Given the description of an element on the screen output the (x, y) to click on. 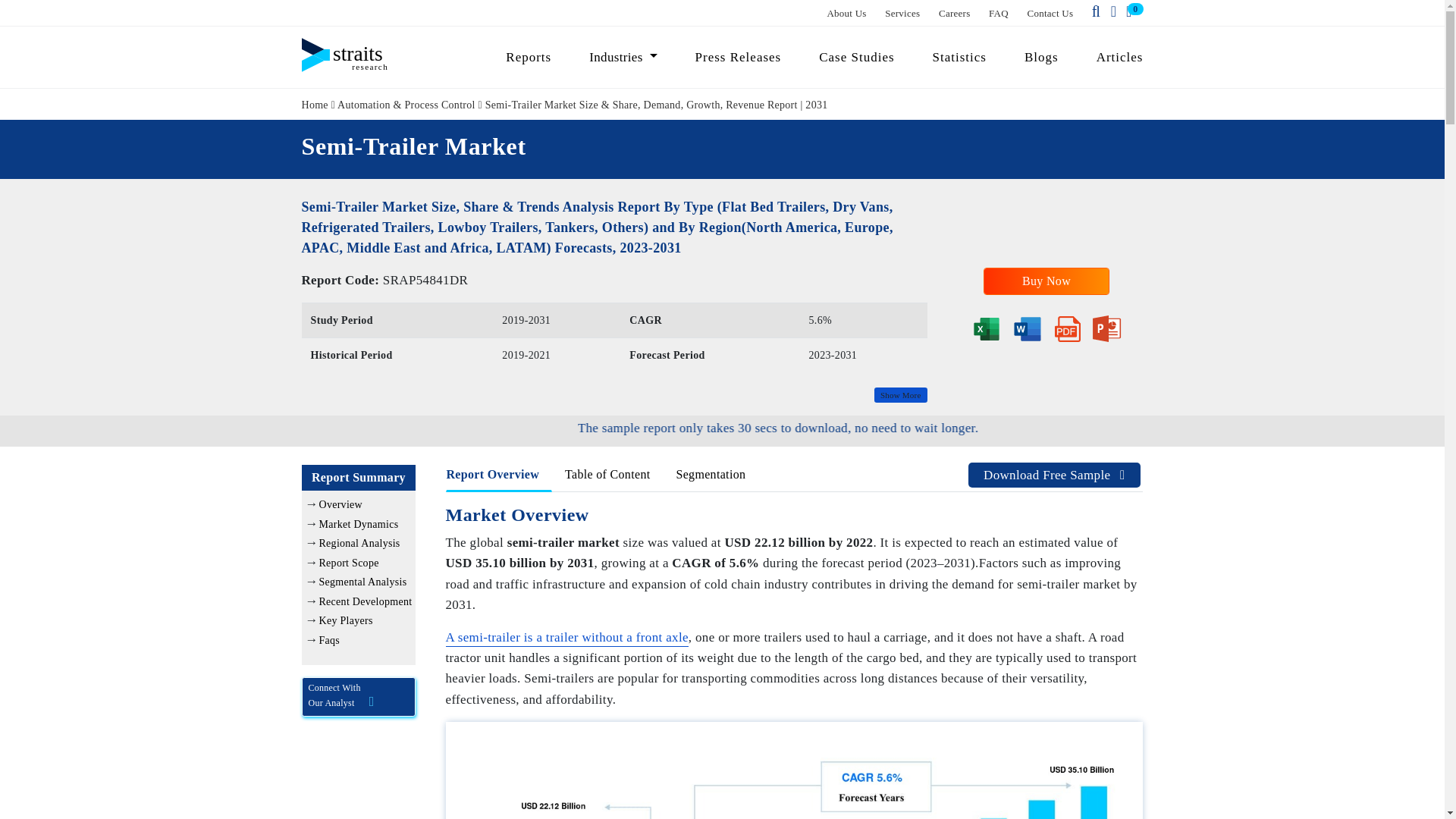
Services (902, 12)
Key Players (345, 620)
Press Releases (738, 56)
Report Scope (348, 562)
Home (315, 103)
About Us (846, 12)
Recent Development (365, 601)
Regional Analysis (358, 542)
Careers (955, 12)
0 (1130, 11)
